Given the description of an element on the screen output the (x, y) to click on. 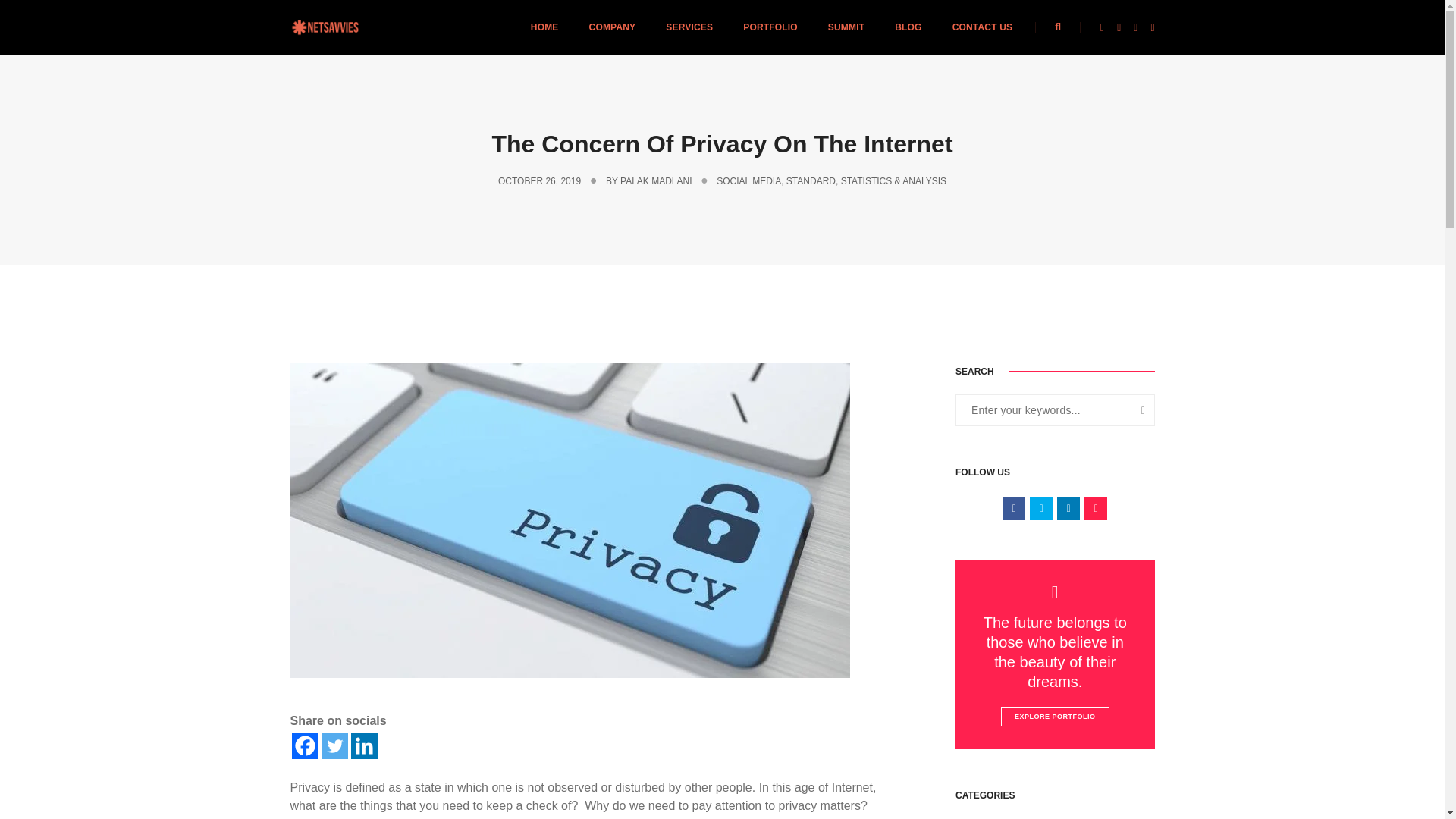
PORTFOLIO (769, 27)
PALAK MADLANI (655, 181)
HOME (545, 27)
BLOG (908, 27)
STANDARD (810, 181)
Facebook (304, 745)
CONTACT US (982, 27)
SUMMIT (846, 27)
COMPANY (612, 27)
SERVICES (689, 27)
Netsavvies - Digital Marketing Agency in Ahmedabad (324, 26)
Linkedin (363, 745)
SOCIAL MEDIA (748, 181)
Twitter (334, 745)
